Given the description of an element on the screen output the (x, y) to click on. 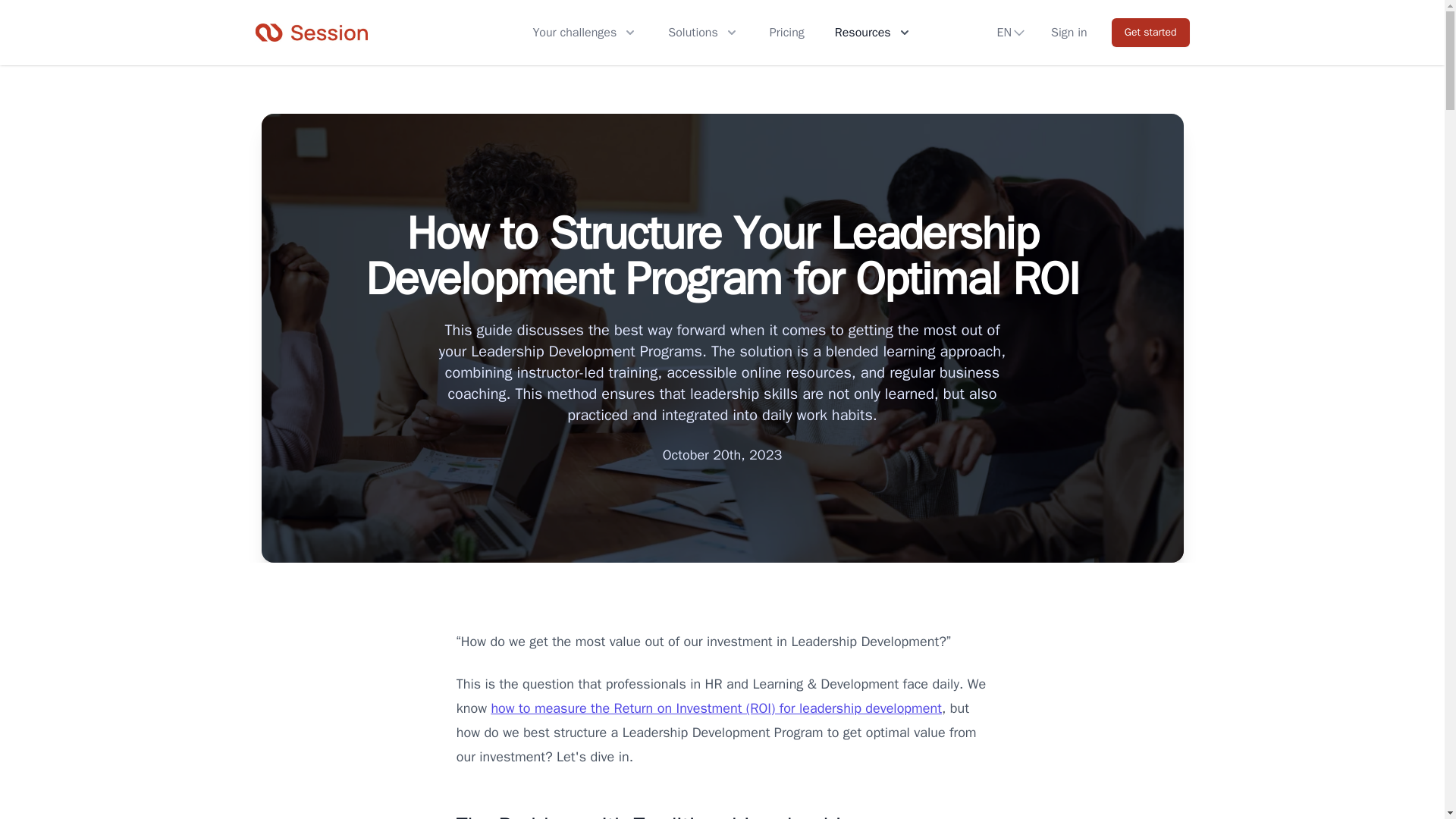
Pricing (787, 32)
Resources (873, 32)
Get started (1150, 32)
Sign in (1069, 32)
Solutions (703, 32)
EN (1012, 32)
Your challenges (584, 32)
